Given the description of an element on the screen output the (x, y) to click on. 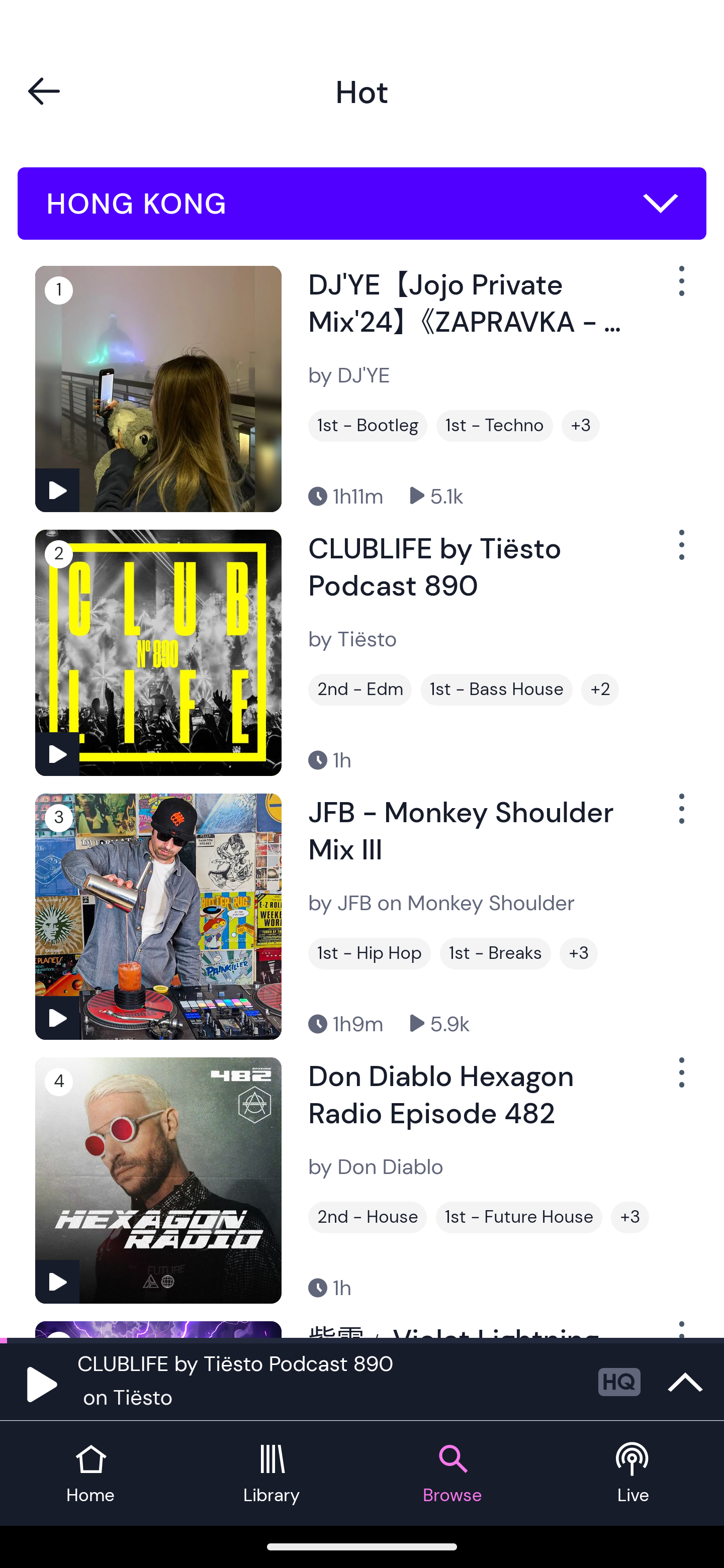
HONG KONG (361, 203)
Show Options Menu Button (679, 289)
1st - Bootleg (367, 426)
1st - Techno (494, 426)
Show Options Menu Button (679, 552)
2nd - Edm (359, 689)
1st - Bass House (496, 689)
Show Options Menu Button (679, 815)
1st - Hip Hop (369, 953)
1st - Breaks (495, 953)
Show Options Menu Button (679, 1079)
2nd - House (367, 1217)
1st - Future House (518, 1217)
Home tab Home (90, 1473)
Library tab Library (271, 1473)
Browse tab Browse (452, 1473)
Live tab Live (633, 1473)
